Given the description of an element on the screen output the (x, y) to click on. 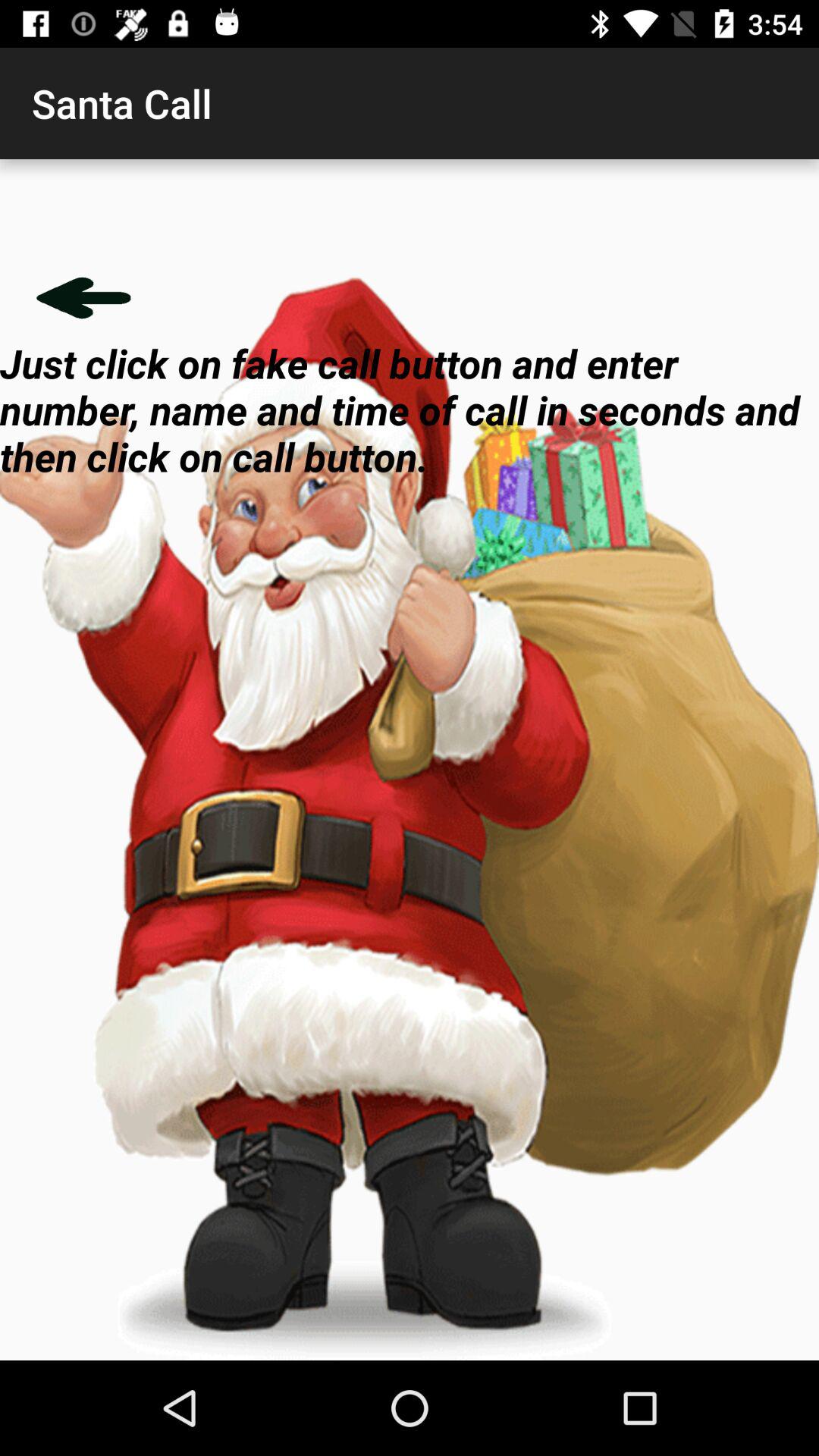
launch icon below santa call (83, 297)
